Given the description of an element on the screen output the (x, y) to click on. 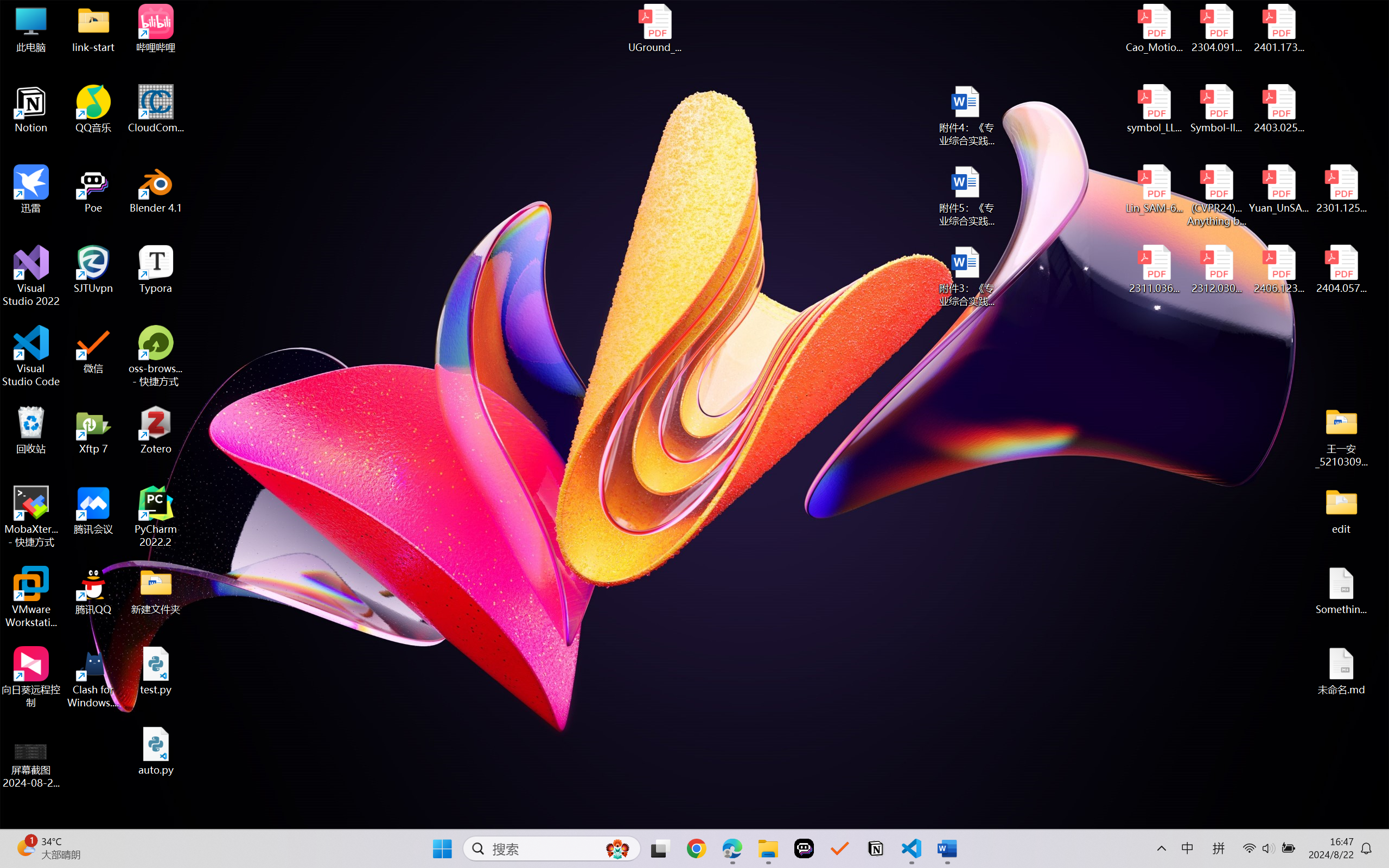
auto.py (156, 751)
(CVPR24)Matching Anything by Segmenting Anything.pdf (1216, 195)
Xftp 7 (93, 430)
2304.09121v3.pdf (1216, 28)
2301.12597v3.pdf (1340, 189)
